Given the description of an element on the screen output the (x, y) to click on. 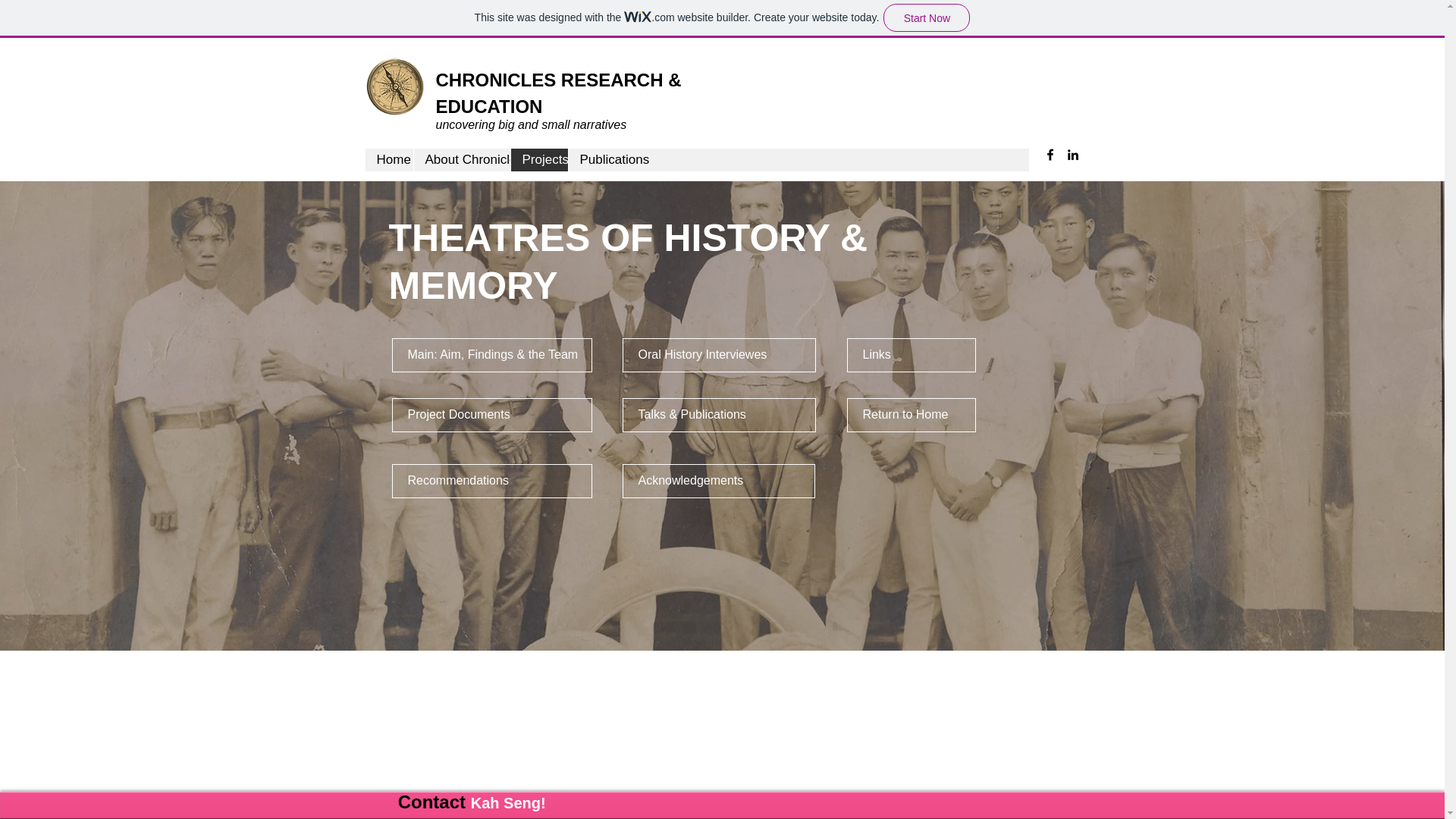
Recommendations (491, 480)
About Chronicles (460, 159)
Home (389, 159)
Kah Seng! (508, 802)
Publications (604, 159)
Project Documents (491, 415)
Projects (538, 159)
Links (910, 355)
uncovering big and small narratives (530, 124)
Acknowledgements (717, 480)
Oral History Interviewes (718, 355)
Return to Home (910, 415)
